Given the description of an element on the screen output the (x, y) to click on. 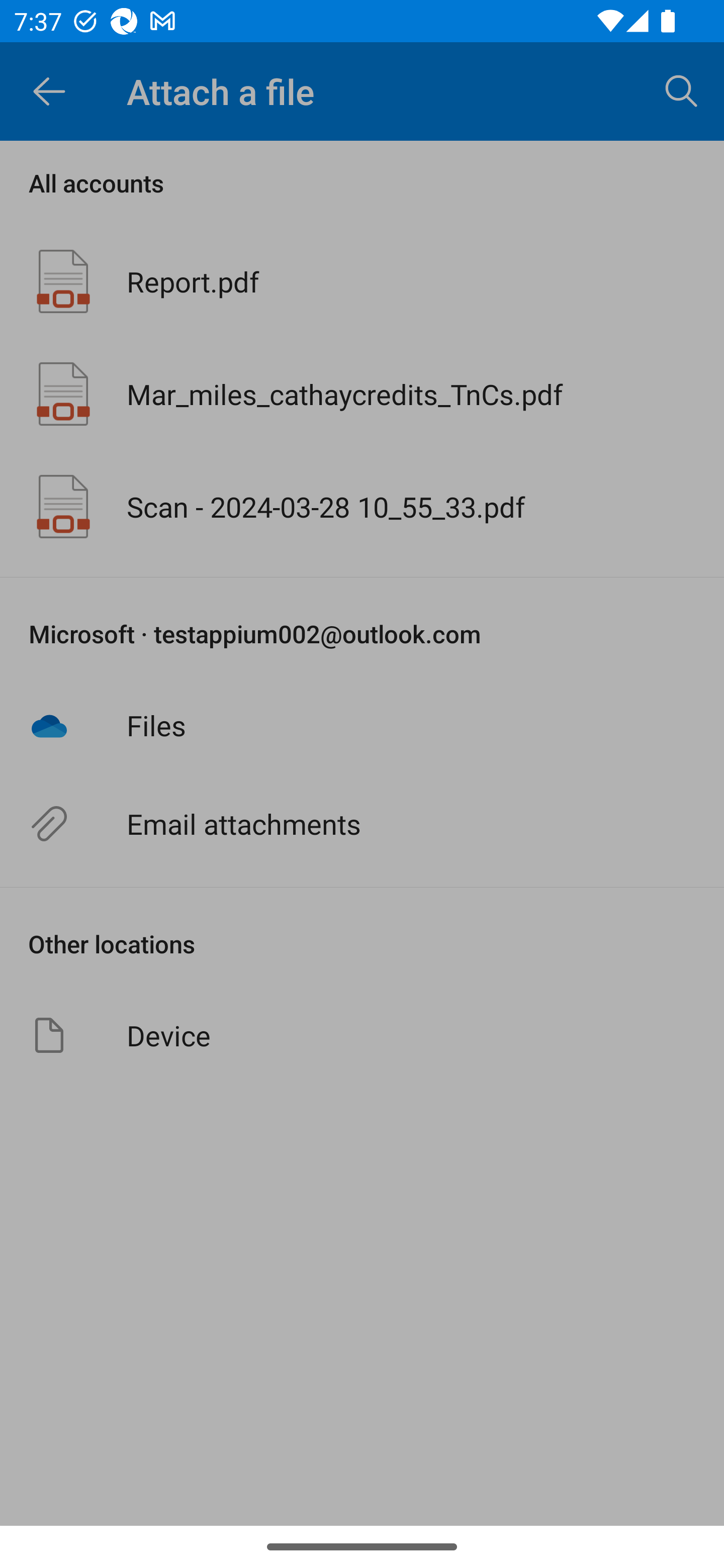
Navigate up (49, 91)
Search button (681, 90)
Report.pdf (362, 281)
Mar_miles_cathaycredits_TnCs.pdf (362, 393)
Scan - 2024-03-28 10_55_33.pdf (362, 506)
Files (362, 724)
Email attachments (362, 823)
Device (362, 1035)
